Given the description of an element on the screen output the (x, y) to click on. 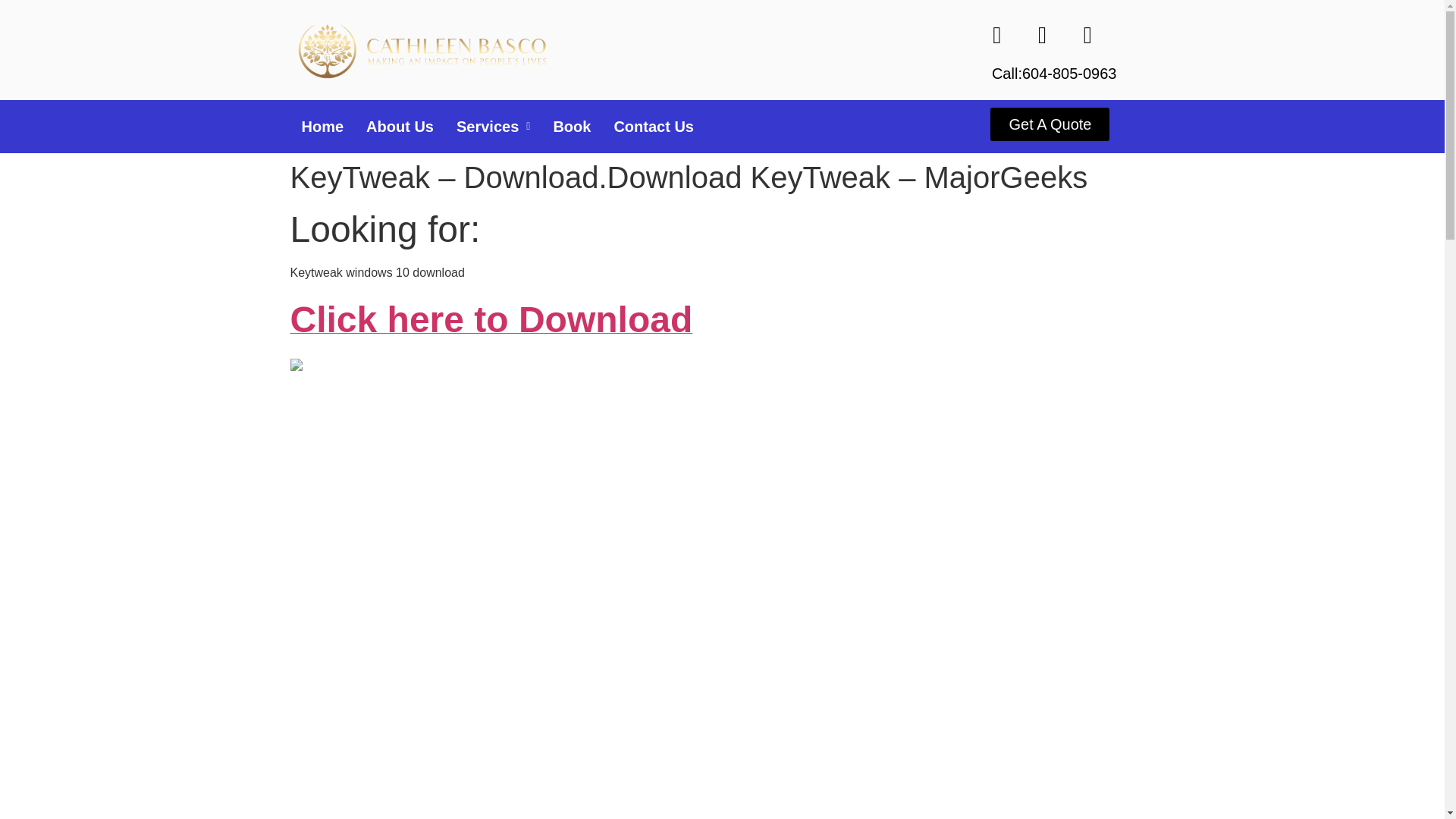
Get A Quote (1049, 123)
Contact Us (653, 126)
Home (322, 126)
Book (571, 126)
Call:604-805-0963 (1053, 73)
About Us (400, 126)
Services (493, 126)
Click here to Download (491, 327)
